Given the description of an element on the screen output the (x, y) to click on. 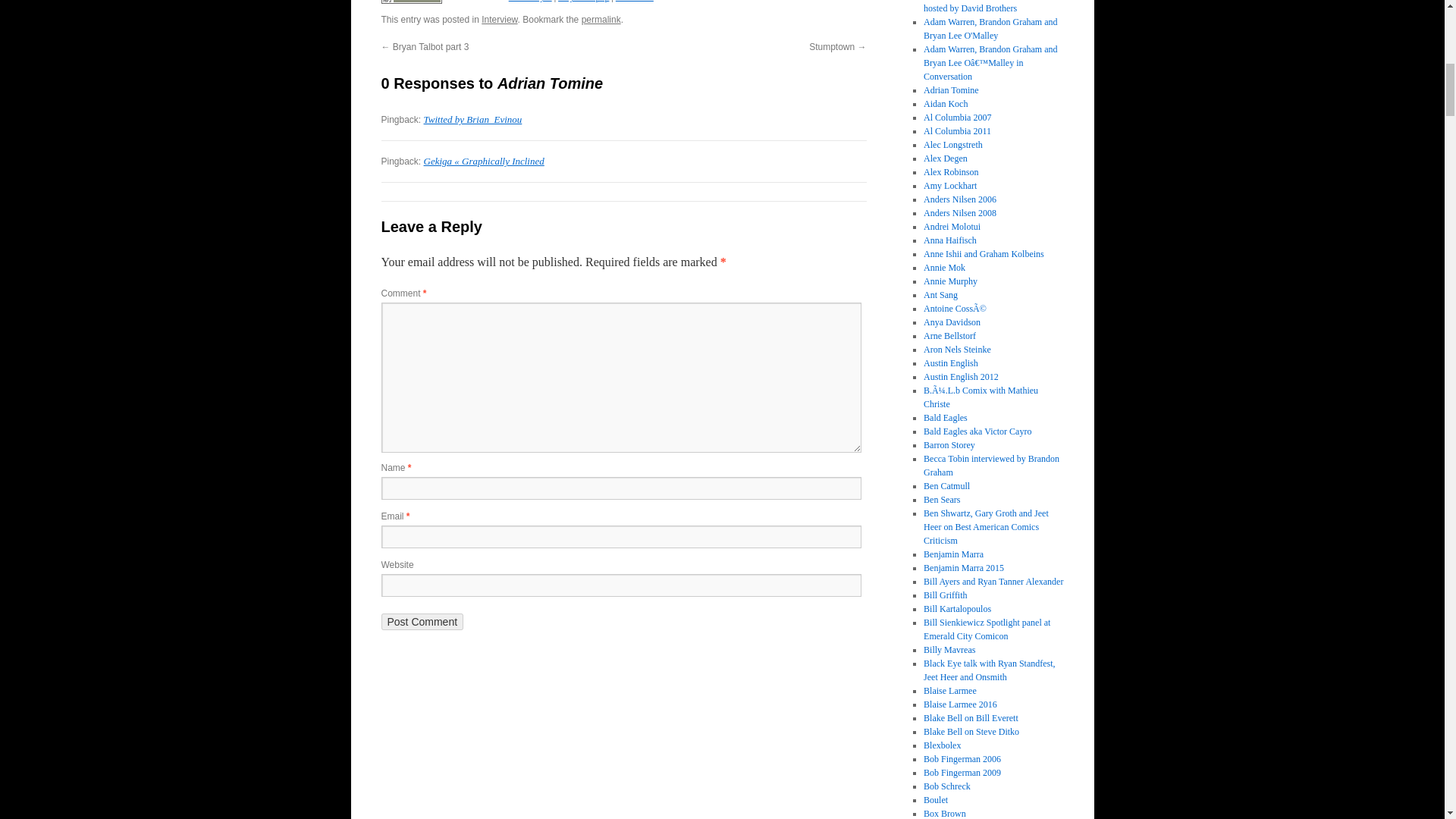
Play in Popup (582, 1)
Download: Adrian Tomine (410, 1)
Permalink to Adrian Tomine (600, 19)
Hide Player (529, 1)
Adam Warren, Brandon Graham and Bryan Lee O'Malley (990, 28)
Post Comment (421, 621)
permalink (600, 19)
Interview (498, 19)
Download (634, 1)
Post Comment (421, 621)
